Given the description of an element on the screen output the (x, y) to click on. 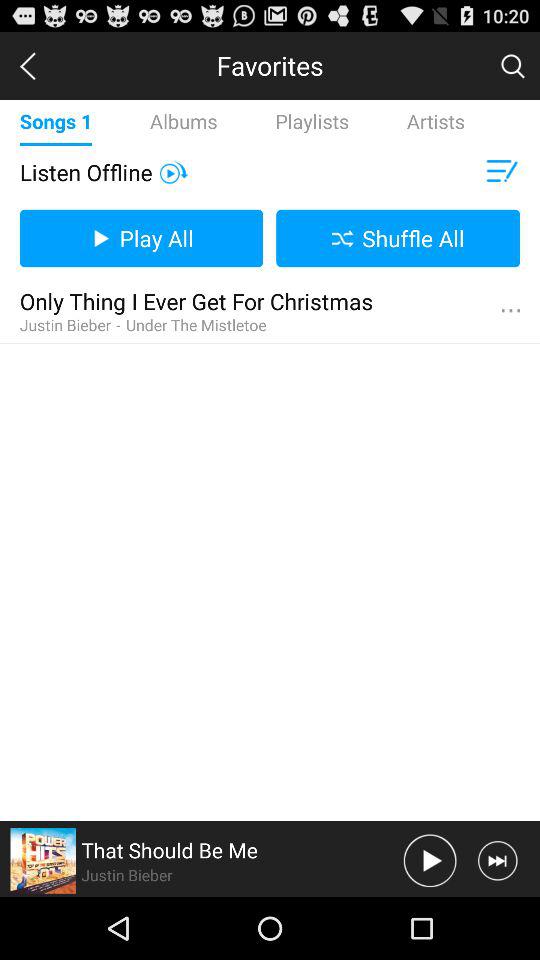
select the play button which is bottom of the page (430, 860)
